Given the description of an element on the screen output the (x, y) to click on. 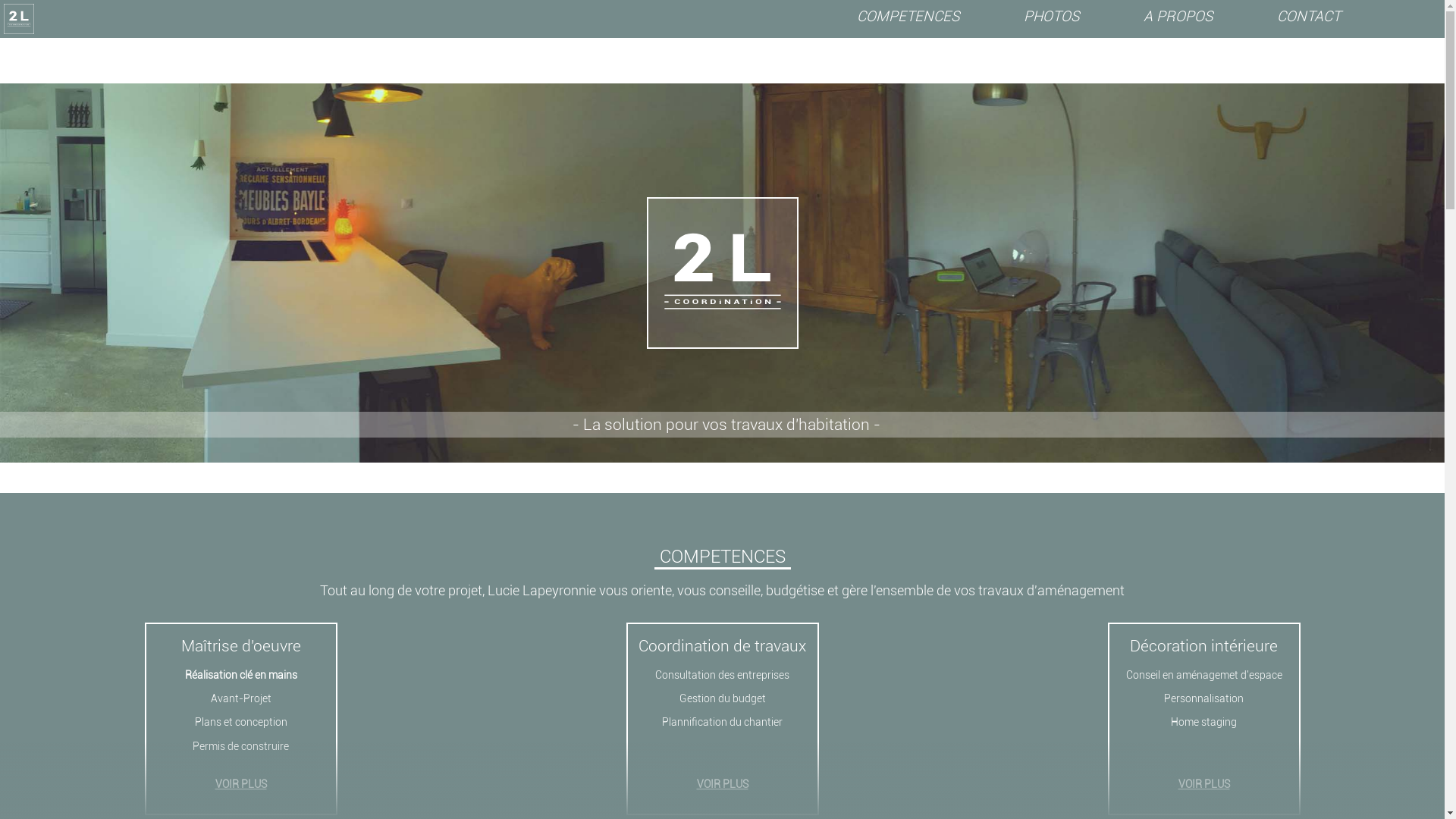
COMPETENCES Element type: text (908, 16)
PHOTOS Element type: text (1051, 16)
A PROPOS Element type: text (1178, 16)
logoBanniere Element type: hover (721, 272)
logo Element type: hover (18, 18)
CONTACT Element type: text (1308, 16)
